Given the description of an element on the screen output the (x, y) to click on. 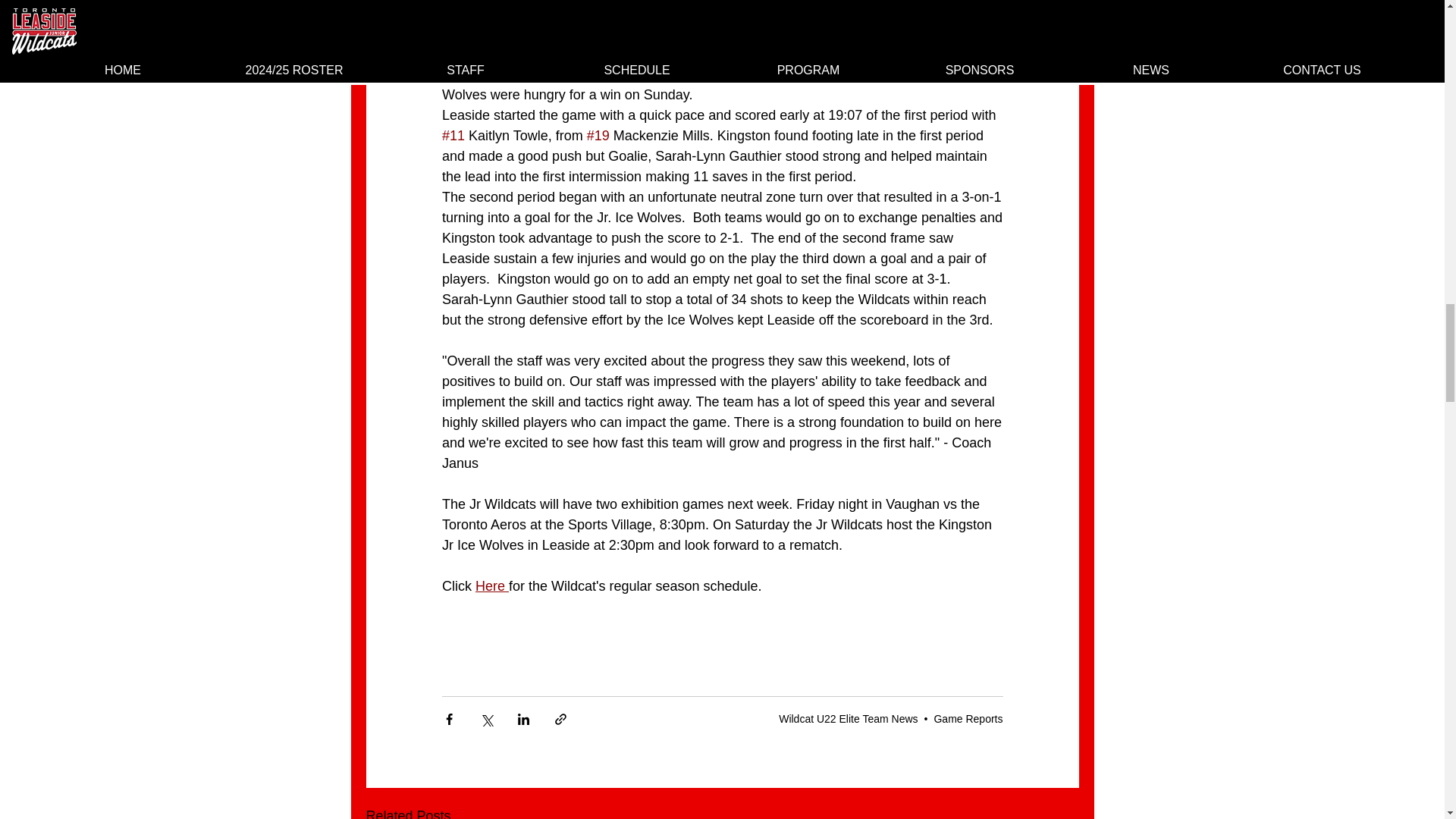
Game Reports (968, 718)
Here  (491, 585)
Wildcat U22 Elite Team News (847, 718)
